Given the description of an element on the screen output the (x, y) to click on. 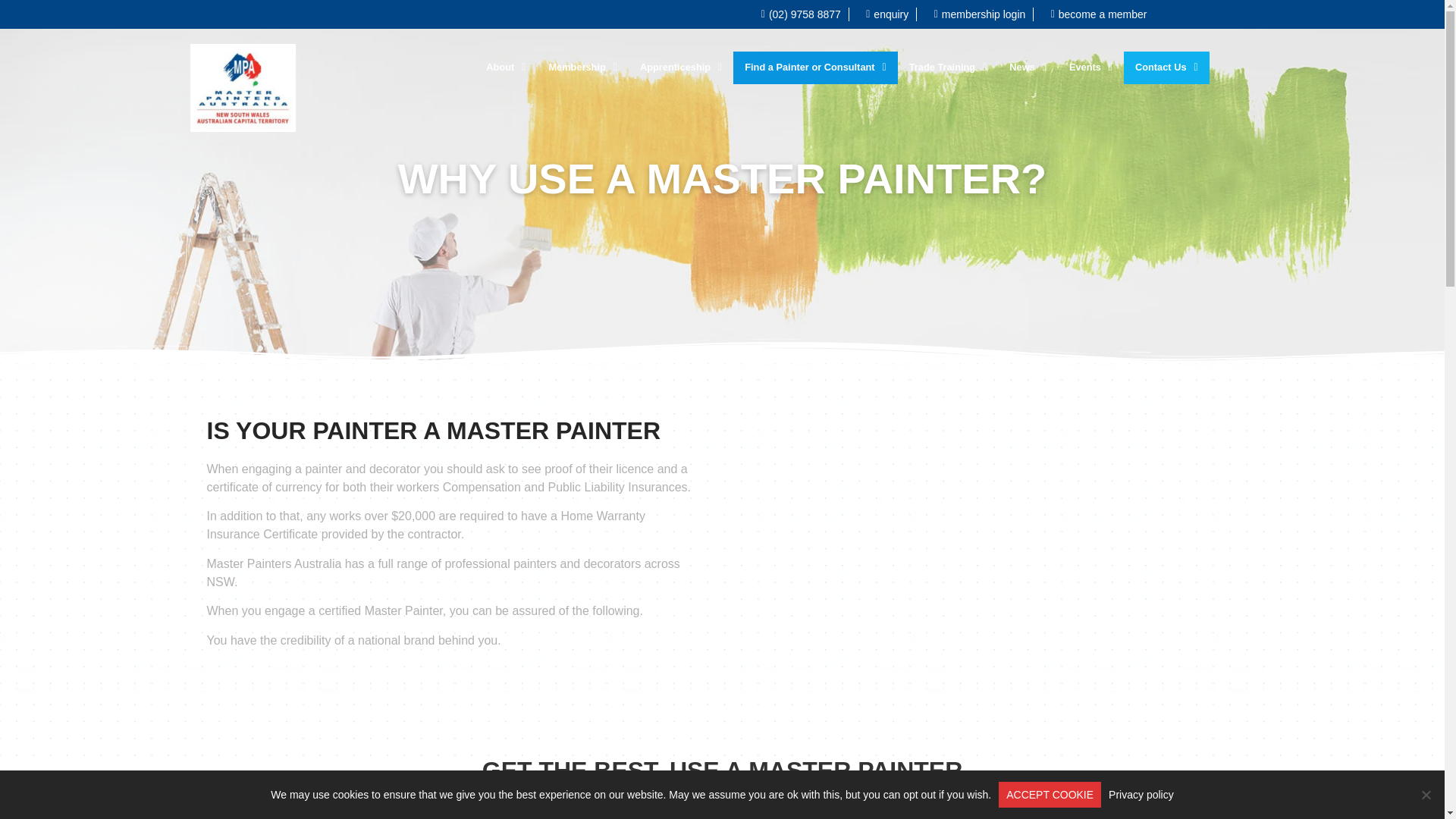
Apprenticeship (680, 67)
Find a Painter or Consultant (814, 67)
Membership (582, 67)
Events (1091, 67)
No (1425, 794)
membership login (974, 14)
become a member (1094, 14)
News (1027, 67)
About (505, 67)
Trade Training (948, 67)
enquiry (882, 14)
